Given the description of an element on the screen output the (x, y) to click on. 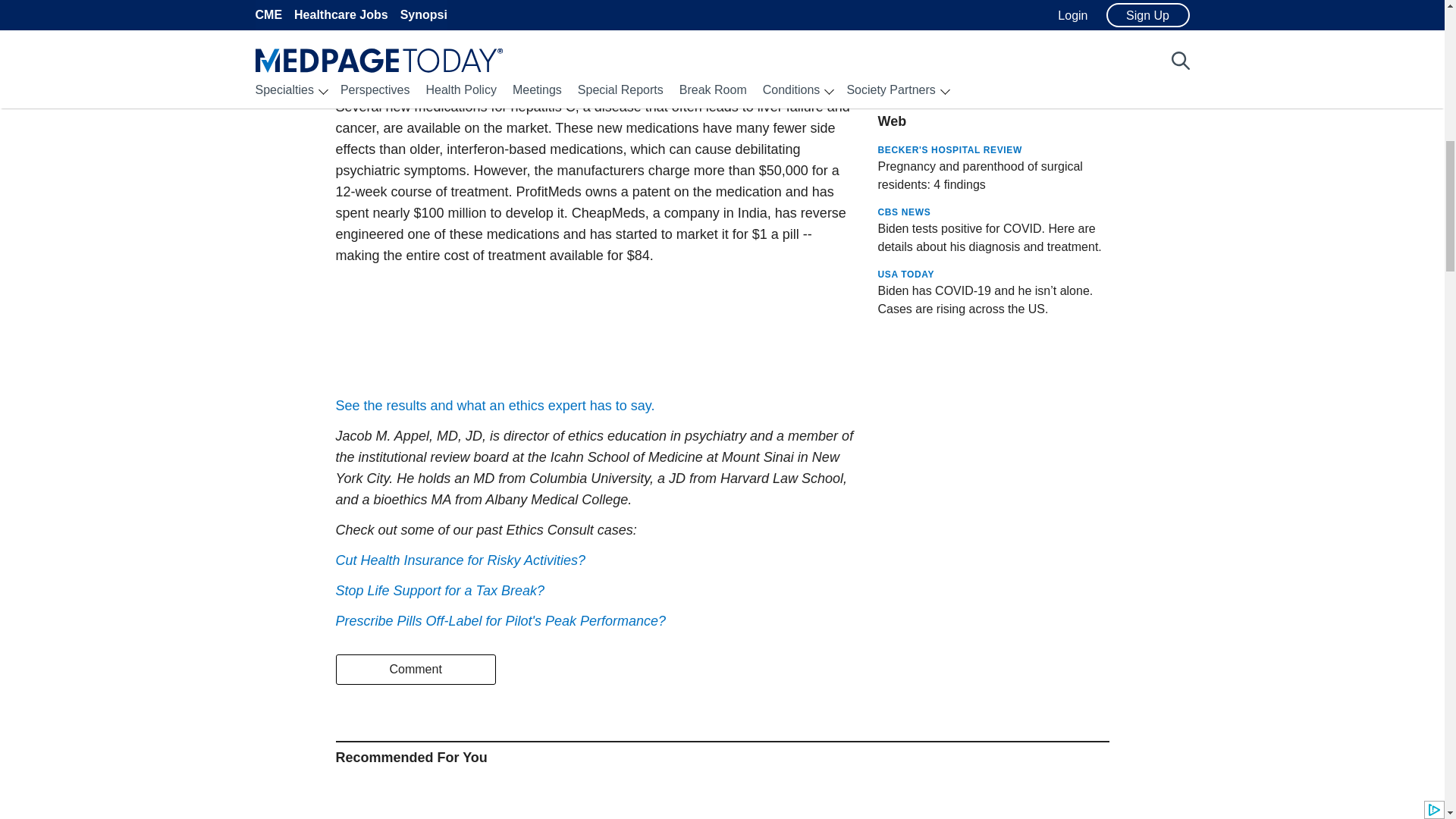
Opens in a new tab or window (439, 590)
3rd party ad content (597, 11)
Opens in a new tab or window (459, 560)
Interaction questions (596, 332)
Opens in a new tab or window (493, 405)
Opens in a new tab or window (499, 620)
Opens in a new tab or window (993, 234)
Opens in a new tab or window (575, 65)
Opens in a new tab or window (993, 109)
Opens in a new tab or window (993, 171)
